Given the description of an element on the screen output the (x, y) to click on. 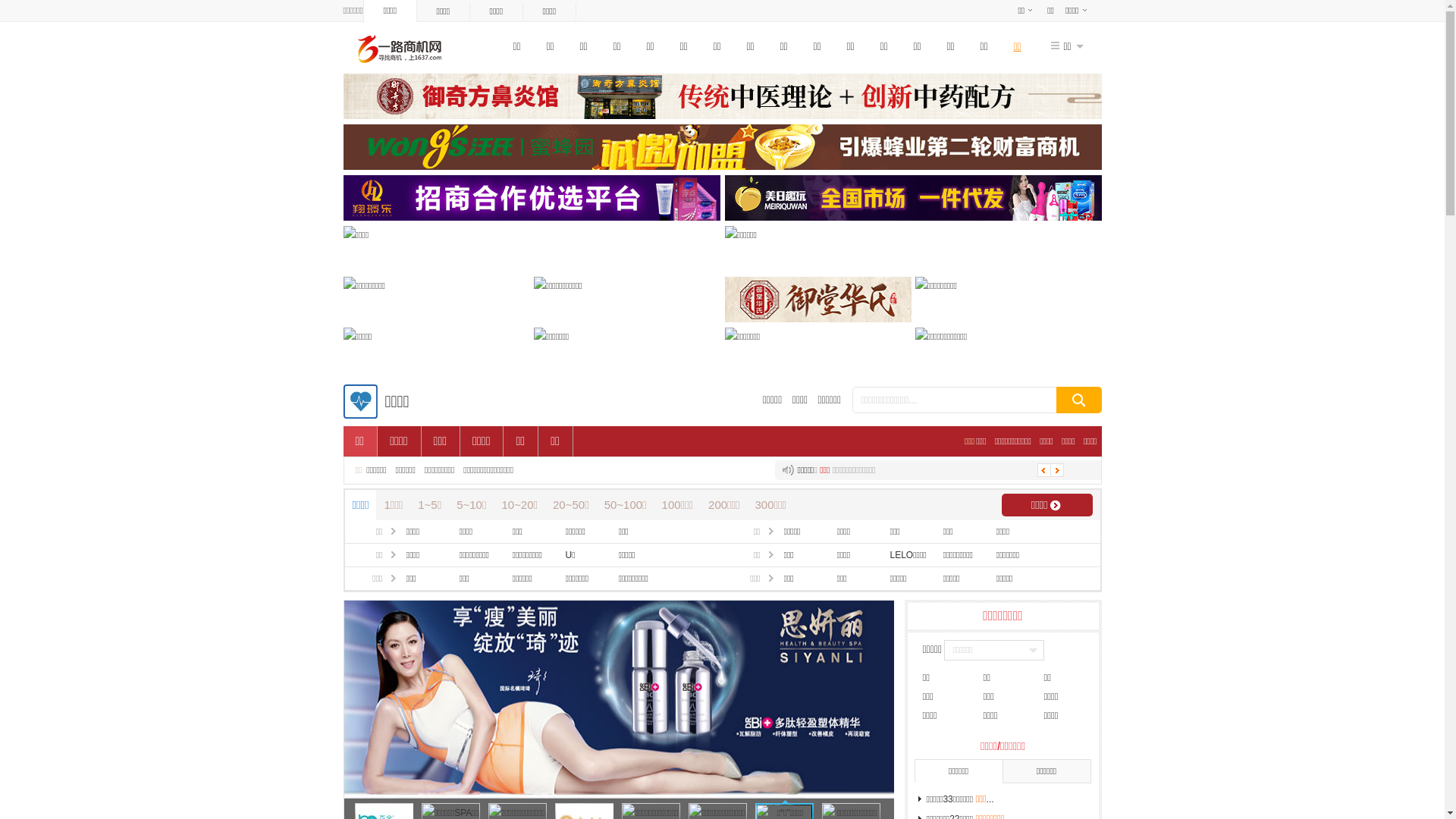
yangbocaier Element type: hover (355, 234)
